Given the description of an element on the screen output the (x, y) to click on. 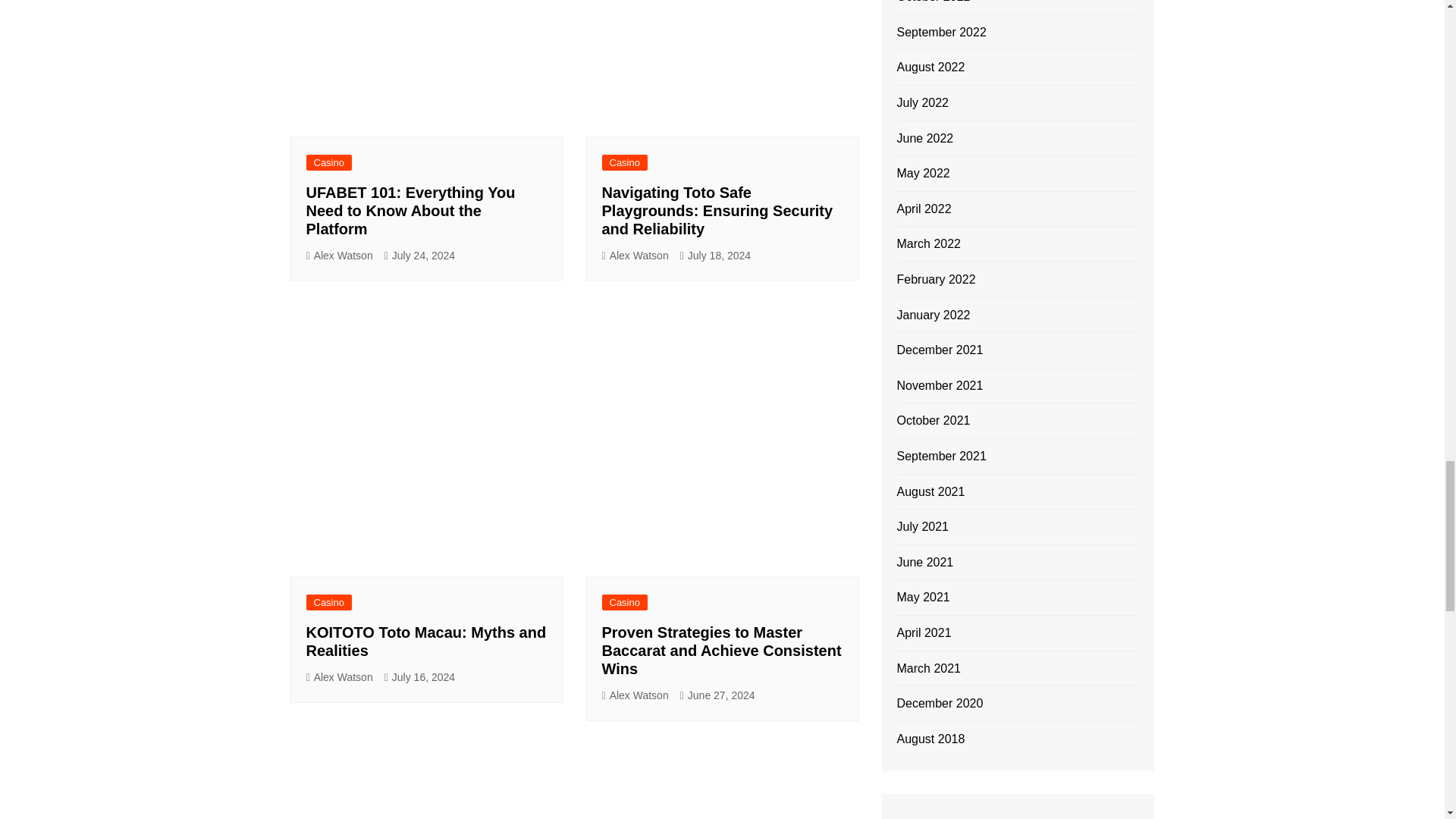
June 27, 2024 (717, 695)
Casino (624, 602)
July 24, 2024 (419, 255)
Casino (328, 602)
Alex Watson (635, 695)
July 16, 2024 (419, 677)
Casino (624, 162)
KOITOTO Toto Macau: Myths and Realities (426, 641)
Casino (328, 162)
Alex Watson (338, 255)
Alex Watson (338, 677)
July 18, 2024 (715, 255)
UFABET 101: Everything You Need to Know About the Platform (410, 210)
